Given the description of an element on the screen output the (x, y) to click on. 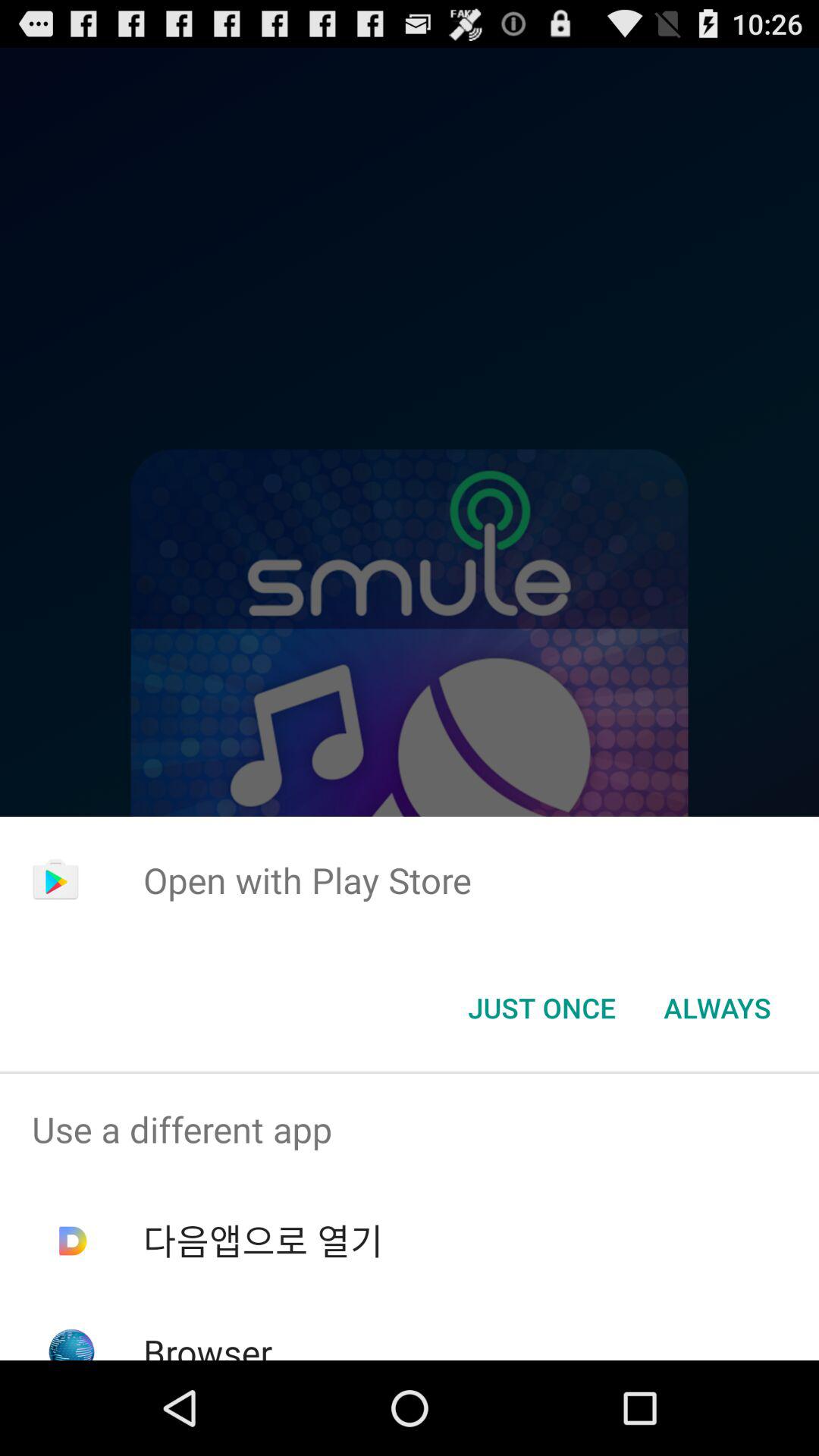
choose button next to the just once icon (717, 1007)
